Given the description of an element on the screen output the (x, y) to click on. 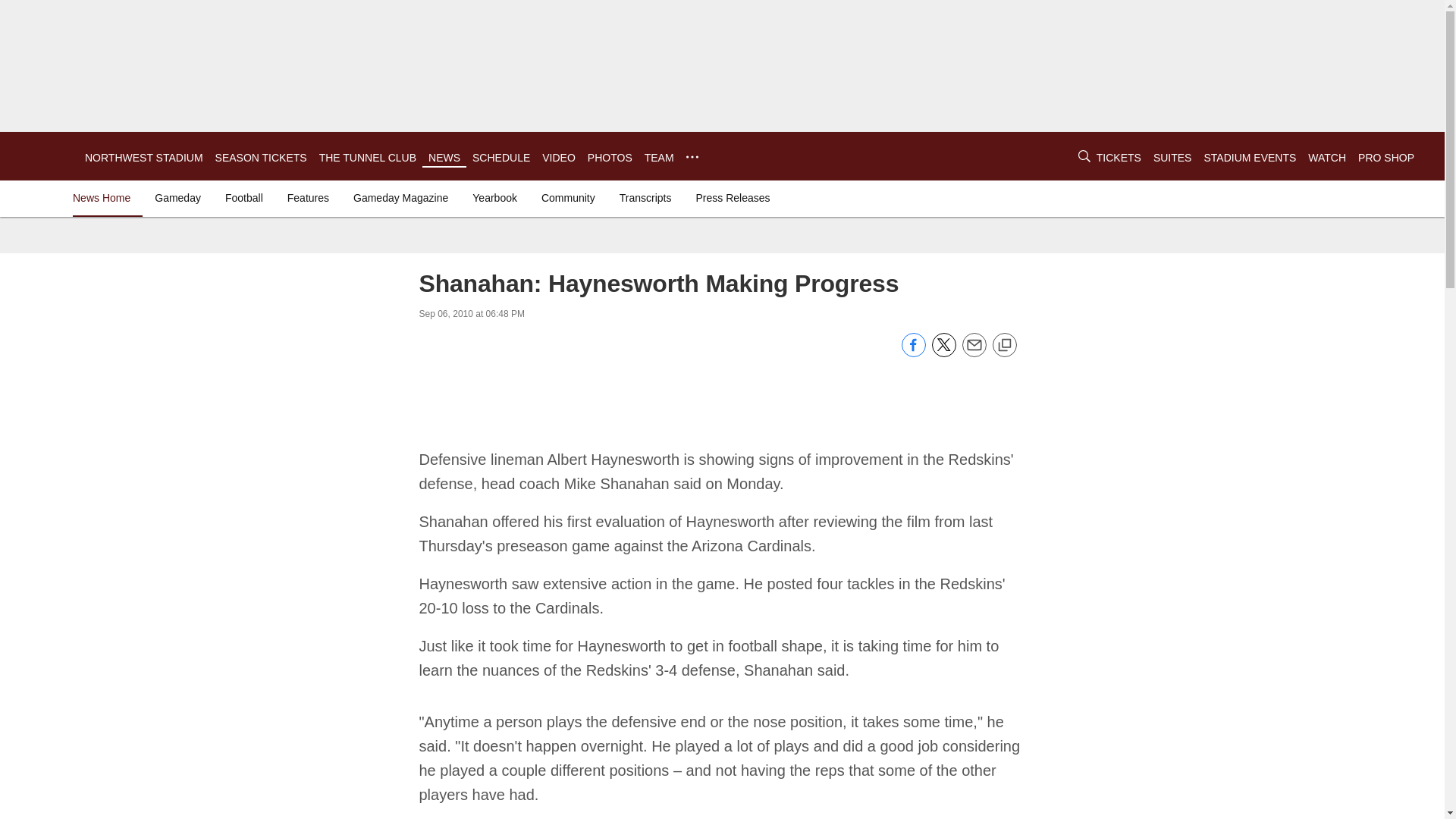
Link to club's homepage (42, 156)
Gameday Magazine (400, 197)
SUITES (1172, 157)
TICKETS (1118, 157)
News Home (104, 197)
VIDEO (558, 157)
TEAM (659, 157)
NEWS (444, 157)
Features (307, 197)
WATCH (1326, 157)
